Given the description of an element on the screen output the (x, y) to click on. 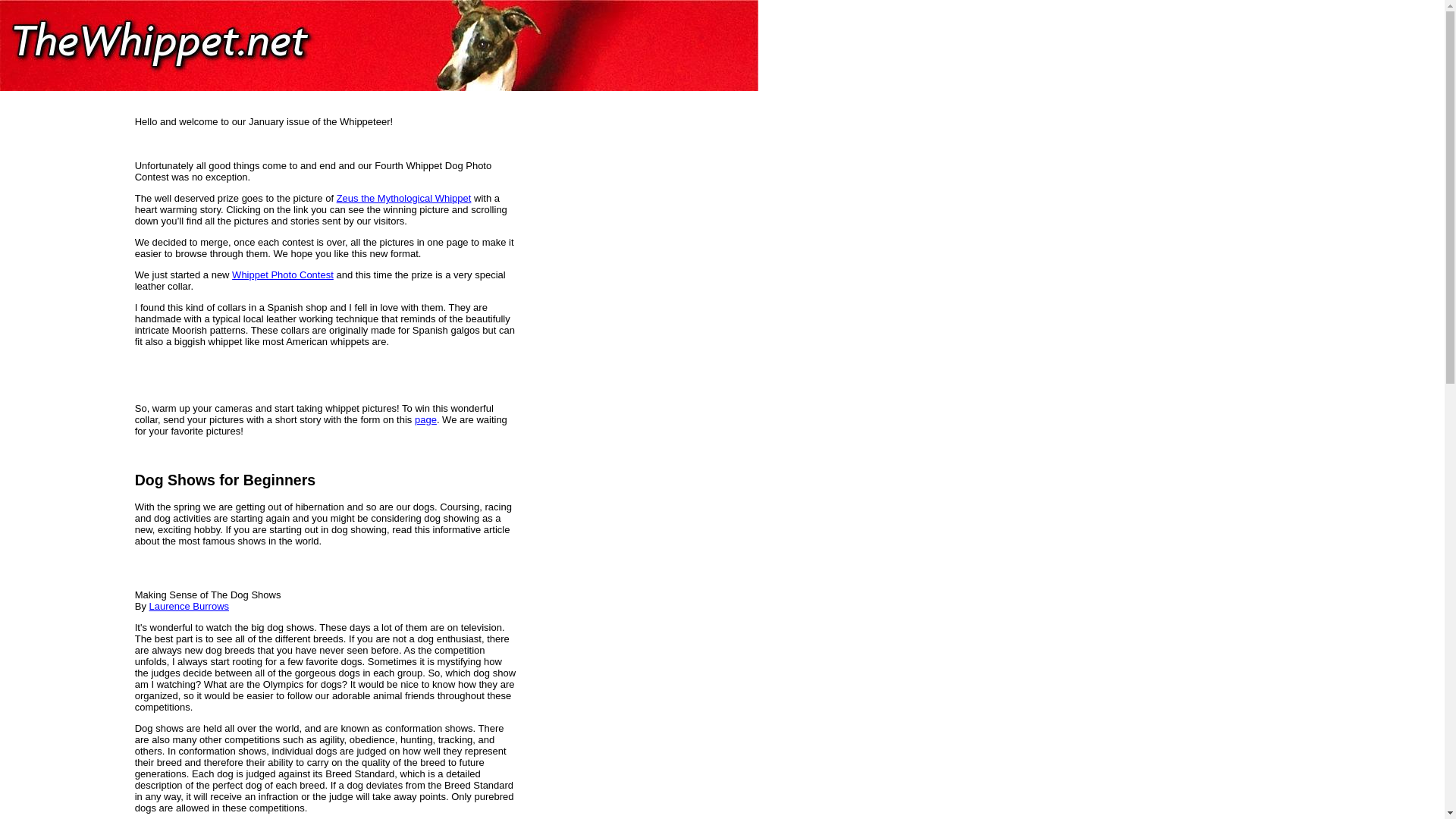
Whippet Photo Contest (282, 274)
Laurence Burrows (189, 605)
Zeus the Mythological Whippet (403, 197)
page (425, 419)
